Given the description of an element on the screen output the (x, y) to click on. 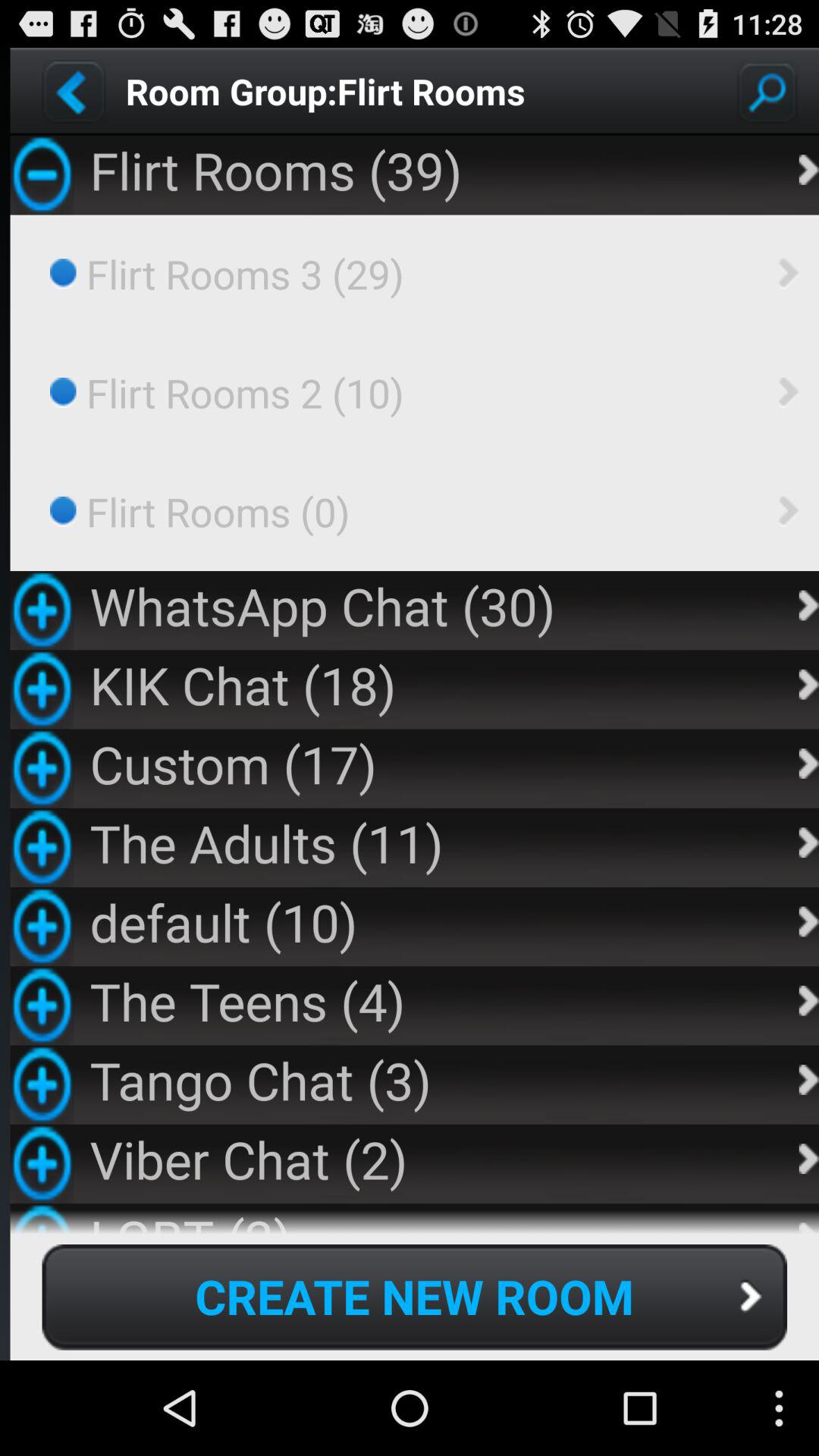
go back (73, 91)
